Given the description of an element on the screen output the (x, y) to click on. 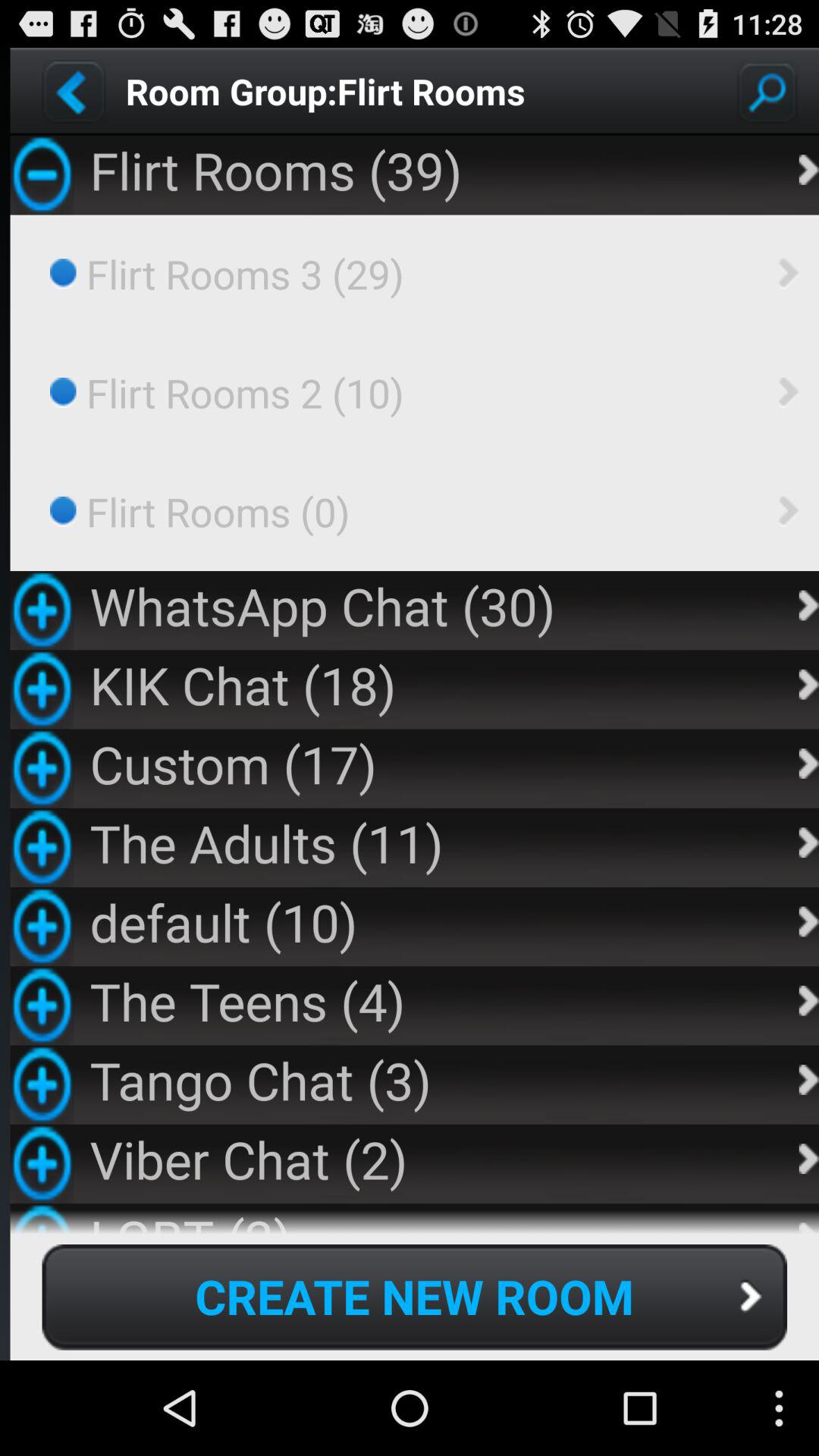
go back (73, 91)
